Given the description of an element on the screen output the (x, y) to click on. 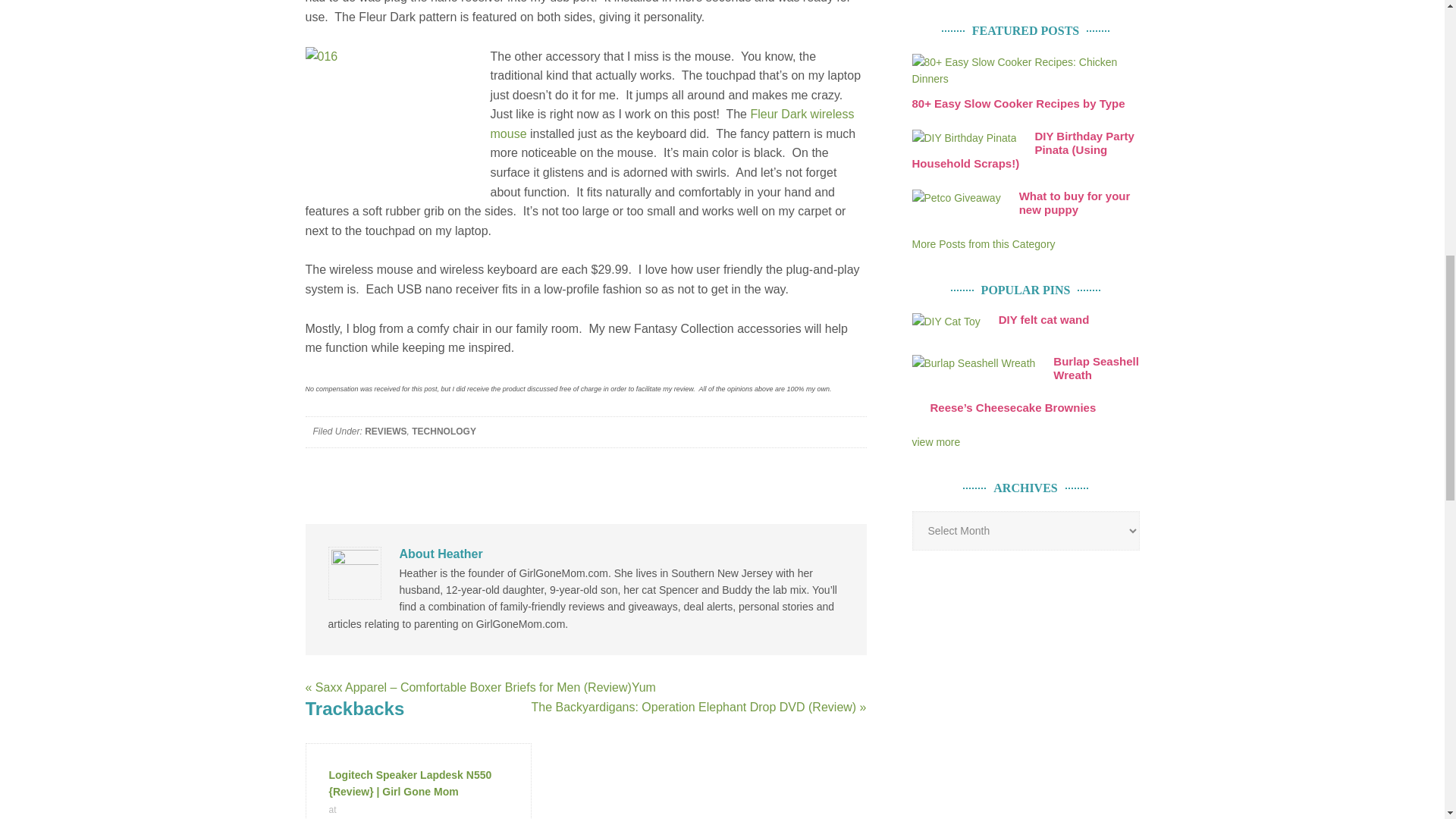
016 (396, 116)
Pin It (935, 441)
In Season (982, 244)
